Given the description of an element on the screen output the (x, y) to click on. 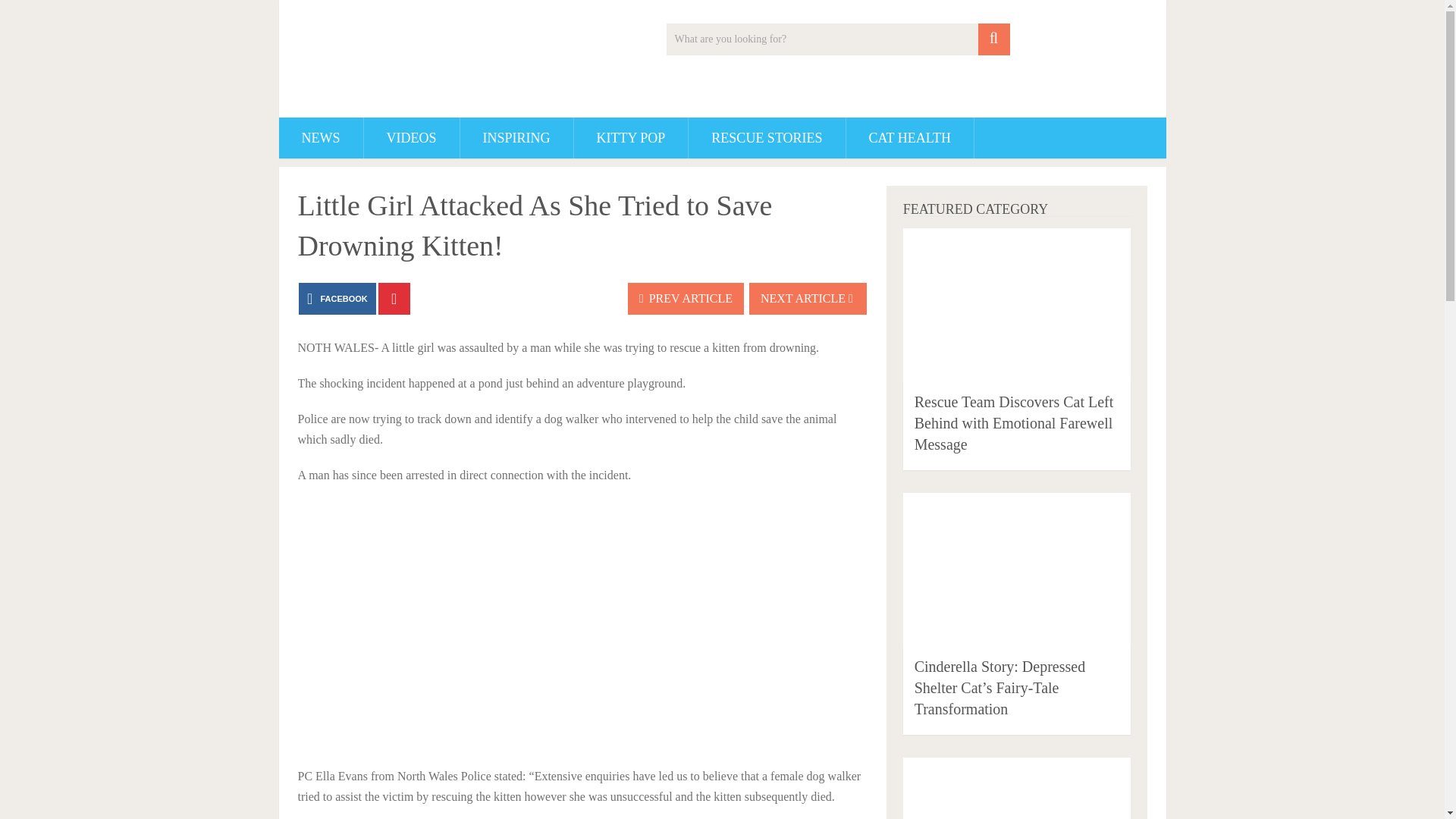
VIDEOS (412, 137)
KITTY POP (630, 137)
FACEBOOK (336, 298)
NEWS (320, 137)
PREV ARTICLE (685, 298)
RESCUE STORIES (766, 137)
INSPIRING (516, 137)
NEXT ARTICLE (807, 298)
CAT HEALTH (909, 137)
